Given the description of an element on the screen output the (x, y) to click on. 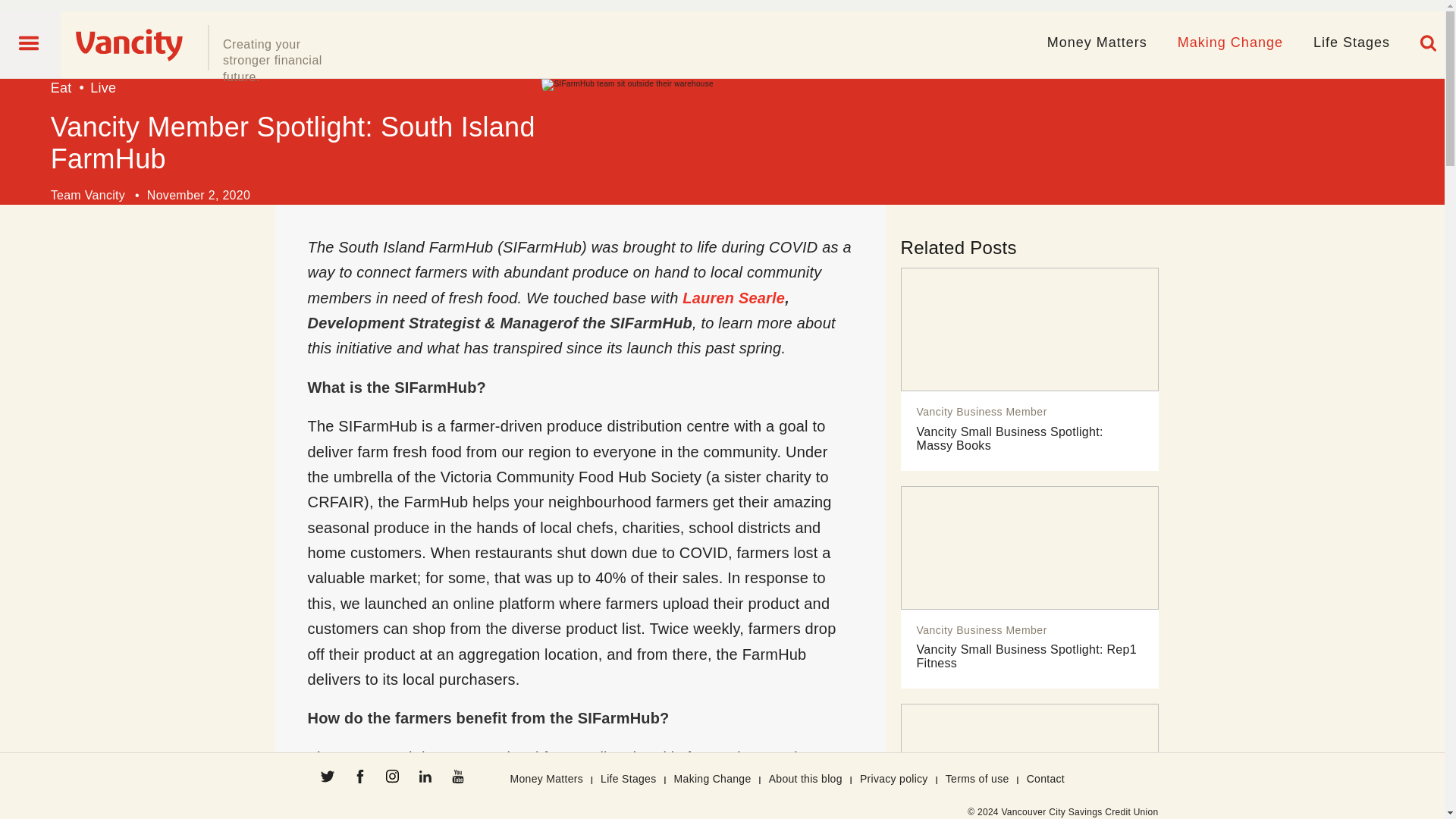
Money Matters (1096, 42)
Menu (30, 41)
Search (1429, 43)
Posts by Team Vancity (87, 195)
Eat (60, 87)
Making Change (1229, 42)
Live (103, 87)
Team Vancity (87, 195)
Life Stages (1351, 42)
